Given the description of an element on the screen output the (x, y) to click on. 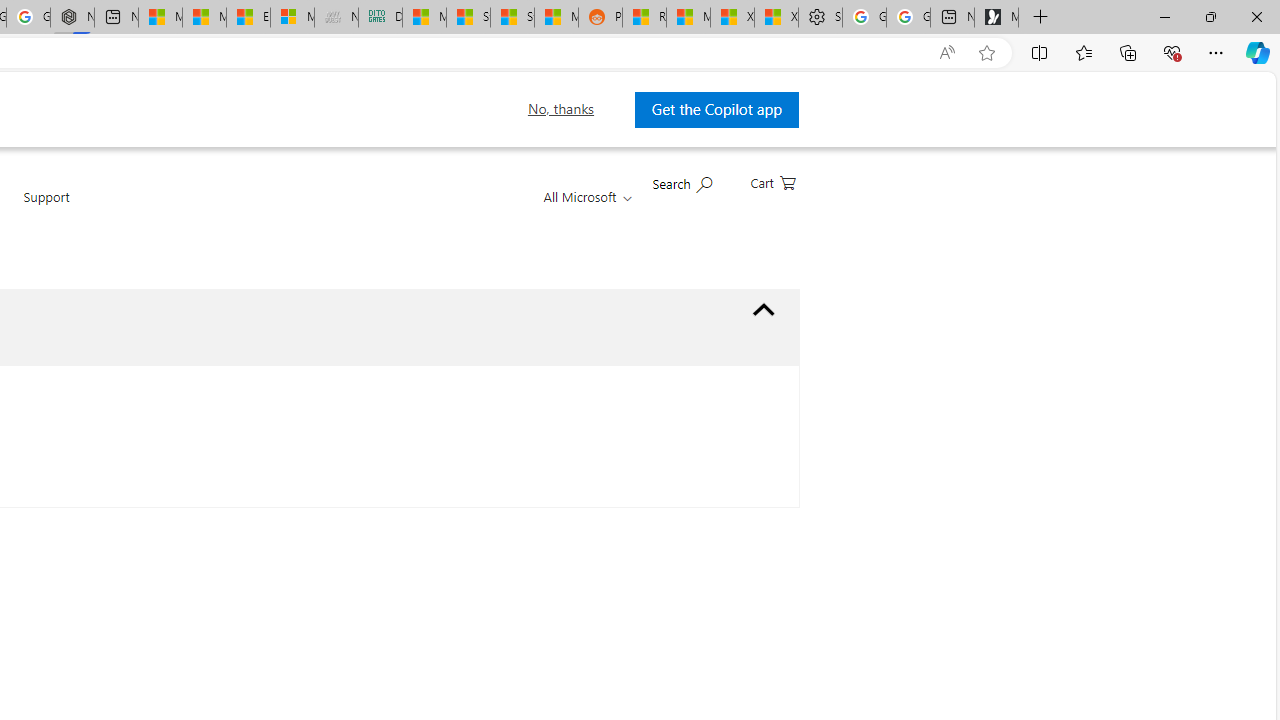
Entertainment - MSN (248, 17)
0 items in shopping cart (773, 181)
Get the Copilot app  (716, 109)
Search Microsoft.com (681, 182)
